Given the description of an element on the screen output the (x, y) to click on. 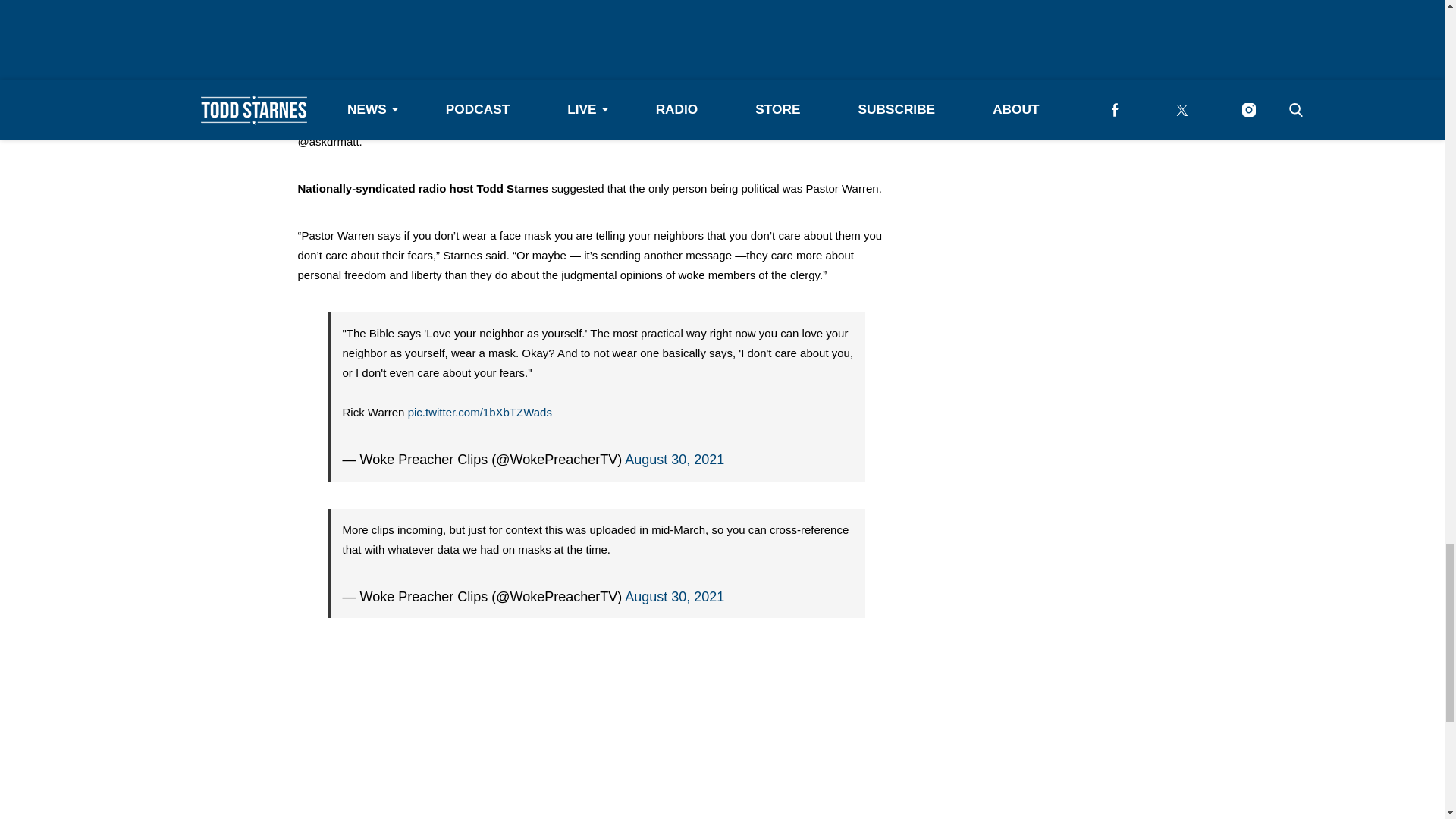
August 30, 2021 (673, 459)
August 30, 2021 (673, 596)
